Given the description of an element on the screen output the (x, y) to click on. 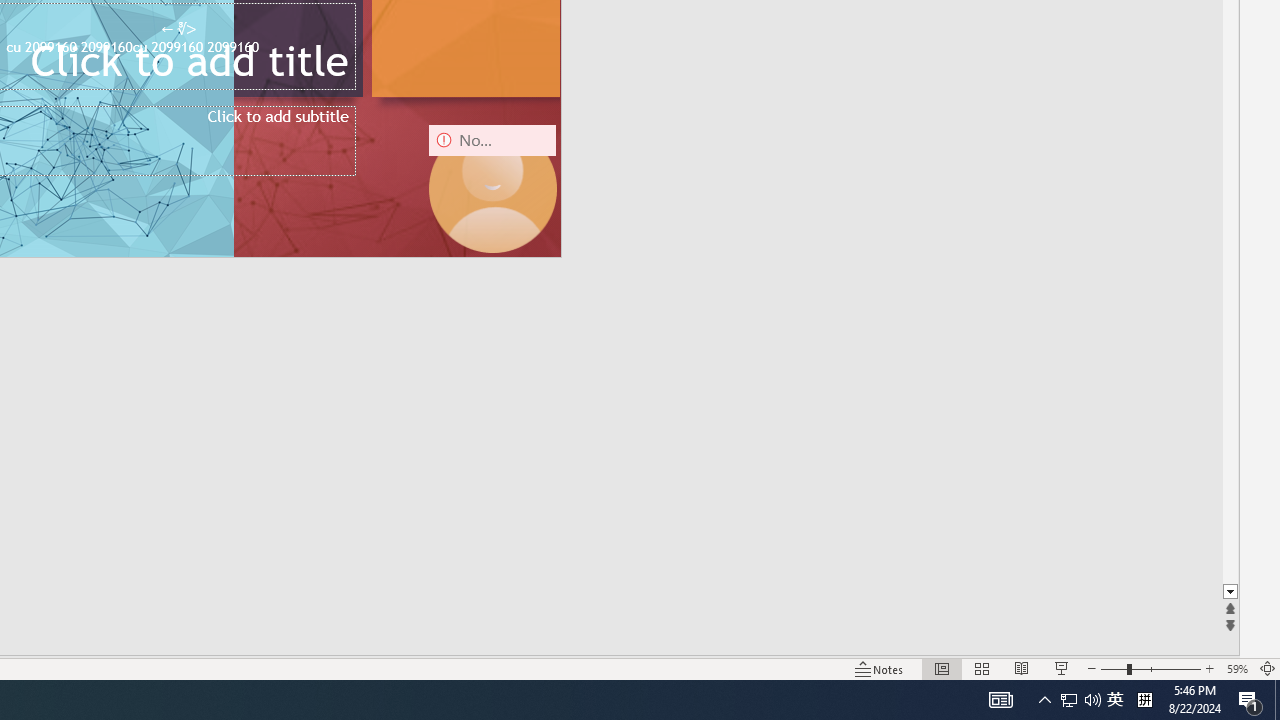
TextBox 7 (178, 30)
Zoom 59% (1236, 668)
Camera 16, No camera detected. (492, 188)
